Given the description of an element on the screen output the (x, y) to click on. 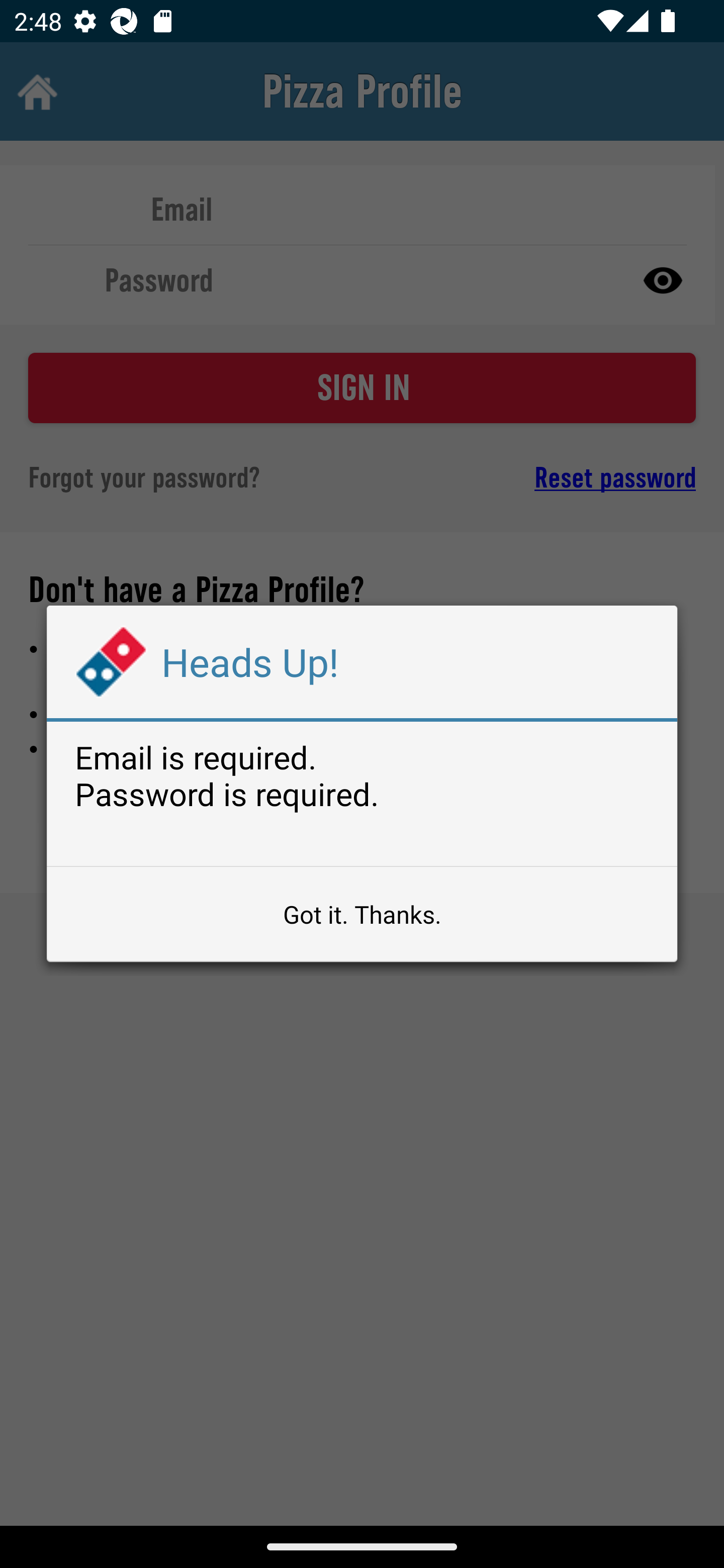
Got it. Thanks. (361, 914)
